Given the description of an element on the screen output the (x, y) to click on. 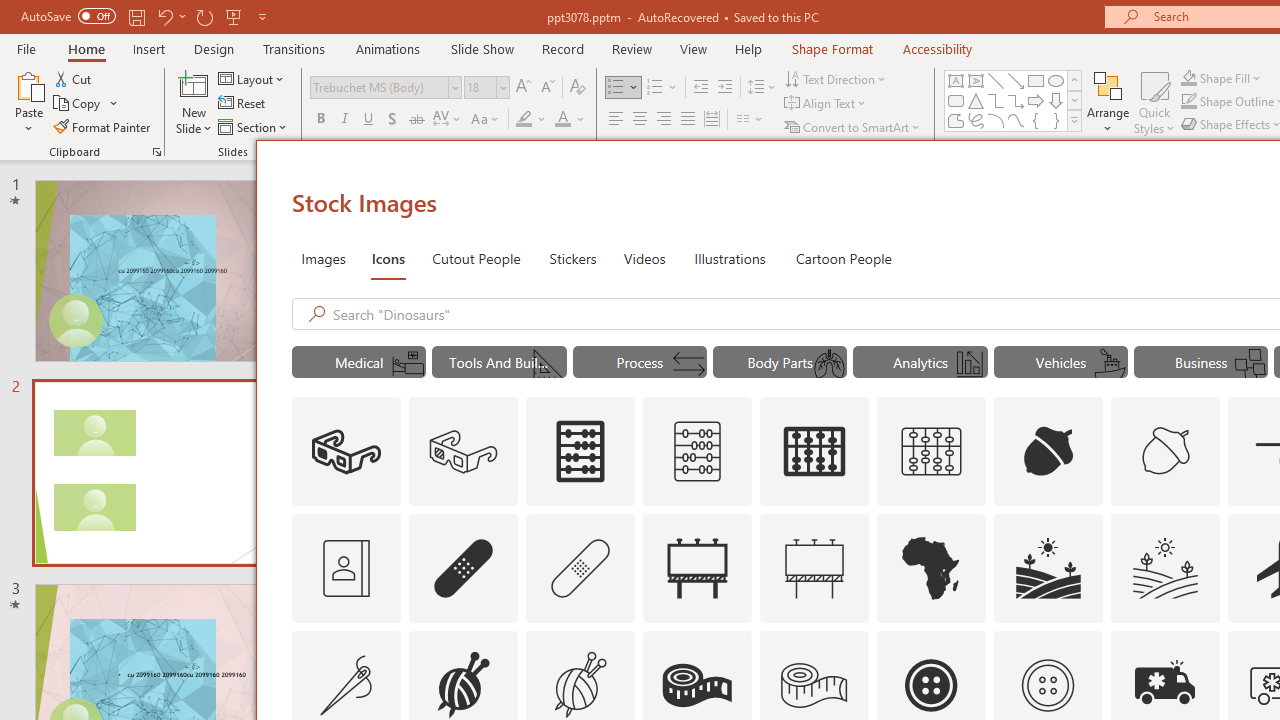
Shape Fill Dark Green, Accent 2 (1188, 78)
Shape Outline Green, Accent 1 (1188, 101)
"Analytics" Icons. (920, 362)
Thumbnail (1204, 645)
AutomationID: Icons_Abacus1 (815, 452)
